Given the description of an element on the screen output the (x, y) to click on. 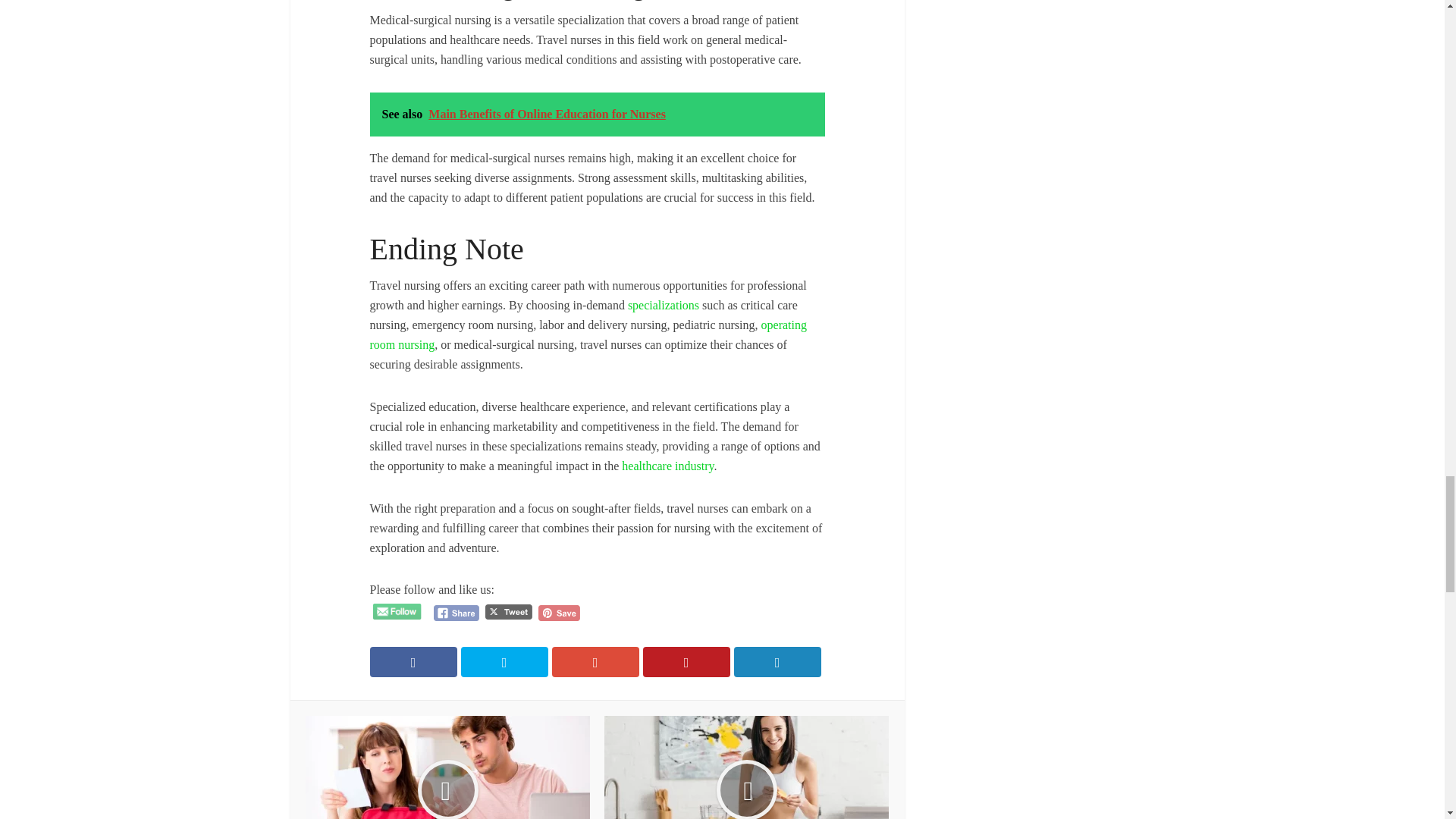
Tweet (508, 611)
operating room nursing (587, 334)
Pin Share (558, 612)
Facebook Share (456, 612)
healthcare industry (667, 465)
specializations (662, 305)
See also  Main Benefits of Online Education for Nurses (597, 114)
